Given the description of an element on the screen output the (x, y) to click on. 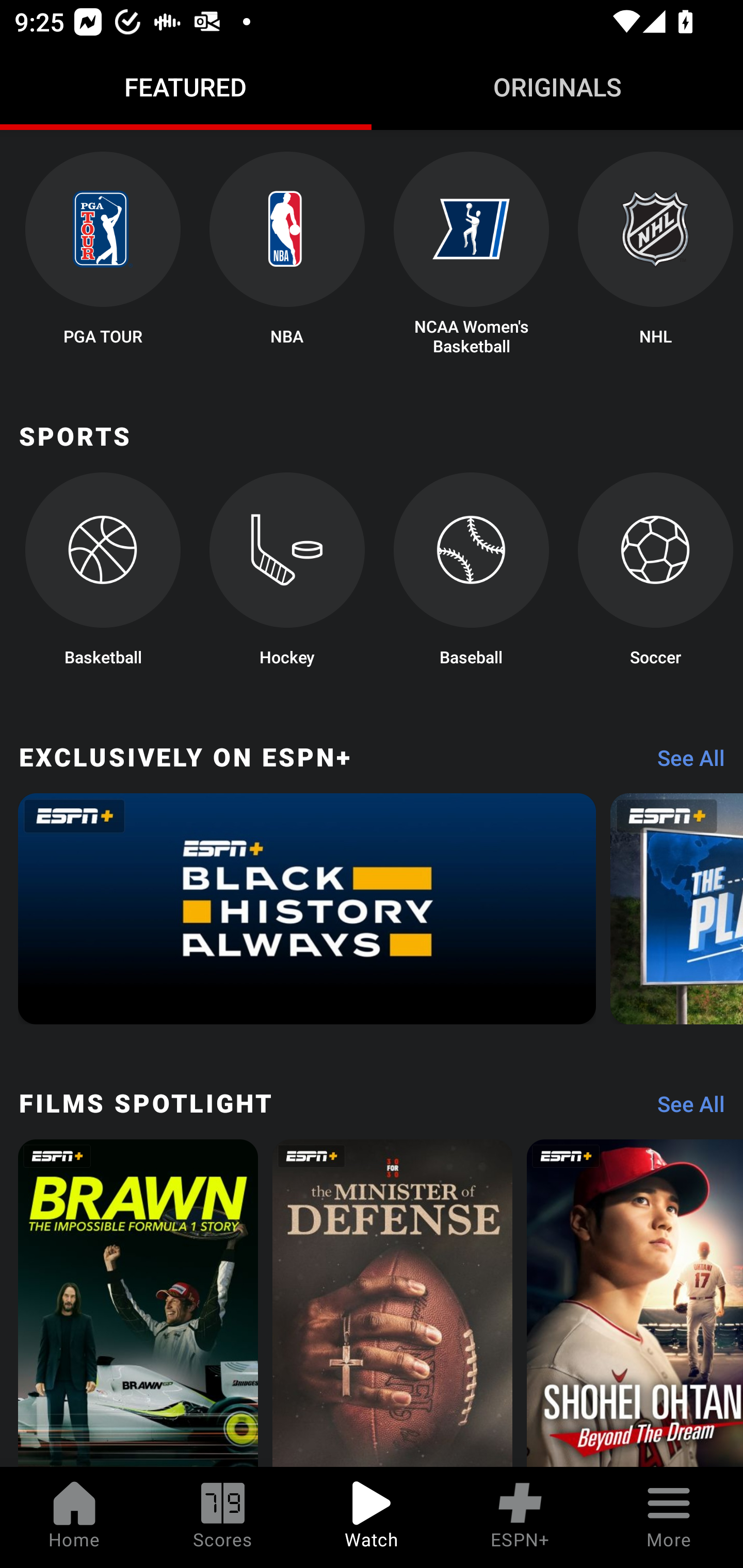
Originals ORIGINALS (557, 86)
PGA TOUR (102, 254)
NBA (286, 254)
NCAA Women's Basketball (471, 254)
NHL (655, 254)
Basketball (102, 574)
Hockey (286, 574)
Baseball (471, 574)
Soccer (655, 574)
See All (683, 762)
See All (683, 1108)
Home (74, 1517)
Scores (222, 1517)
ESPN+ (519, 1517)
More (668, 1517)
